Given the description of an element on the screen output the (x, y) to click on. 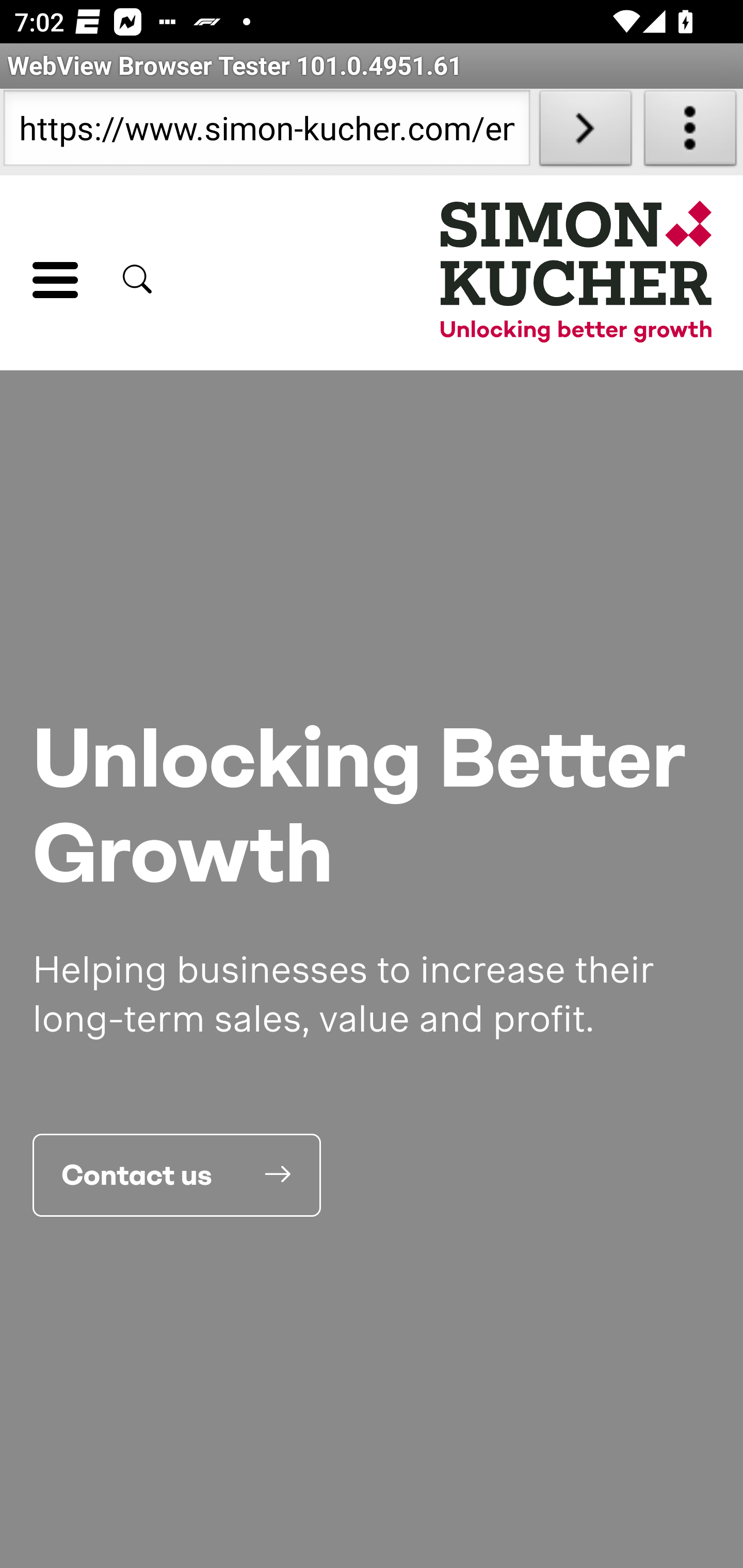
Load URL (585, 132)
About WebView (690, 132)
en (576, 274)
Contact us Contact us  (176, 1174)
